Given the description of an element on the screen output the (x, y) to click on. 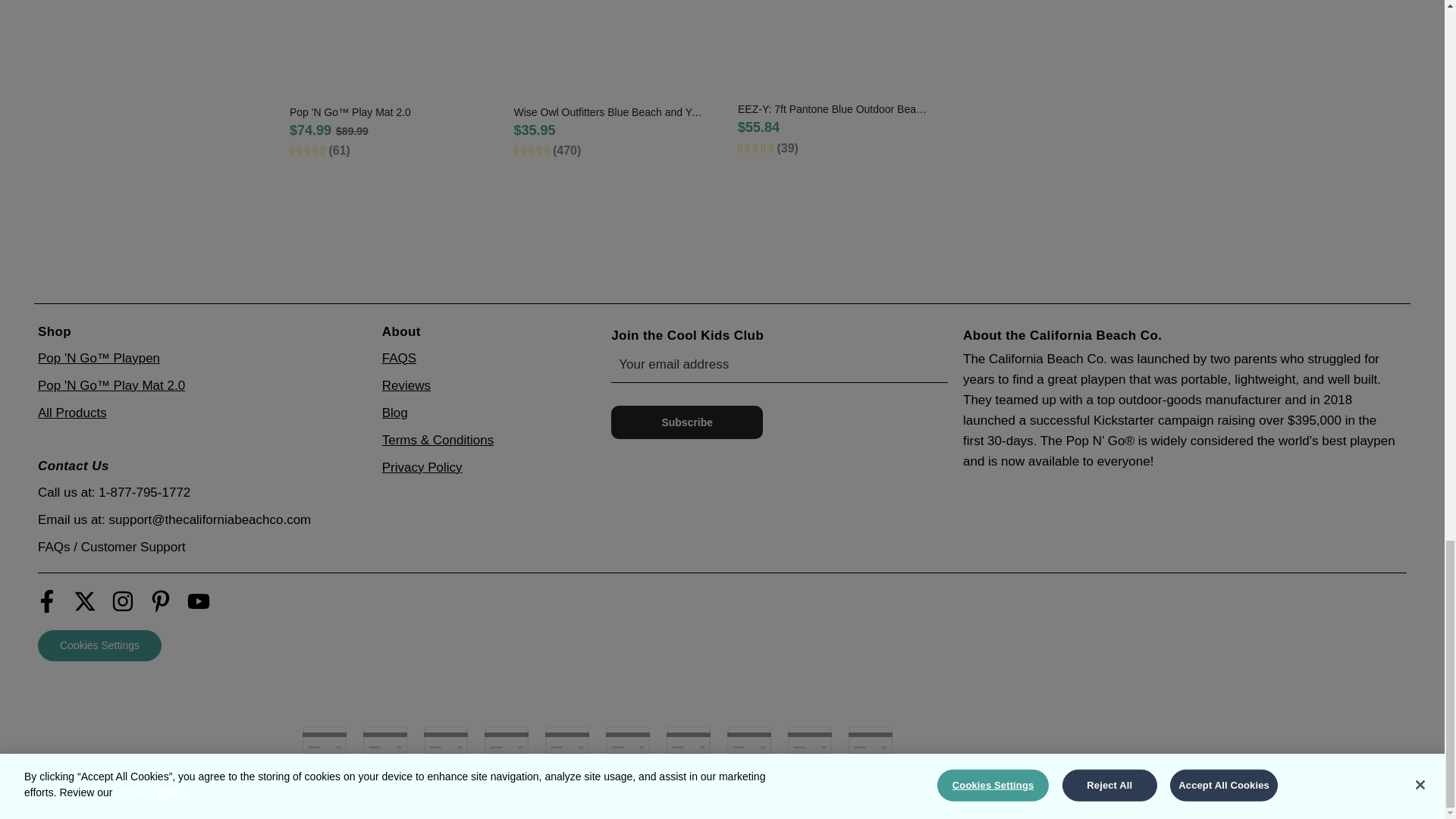
Follow on YouTube (201, 601)
Follow on Facebook (49, 601)
Follow on Pinterest (164, 601)
Follow on Twitter (88, 601)
Follow on Instagram (126, 601)
